Given the description of an element on the screen output the (x, y) to click on. 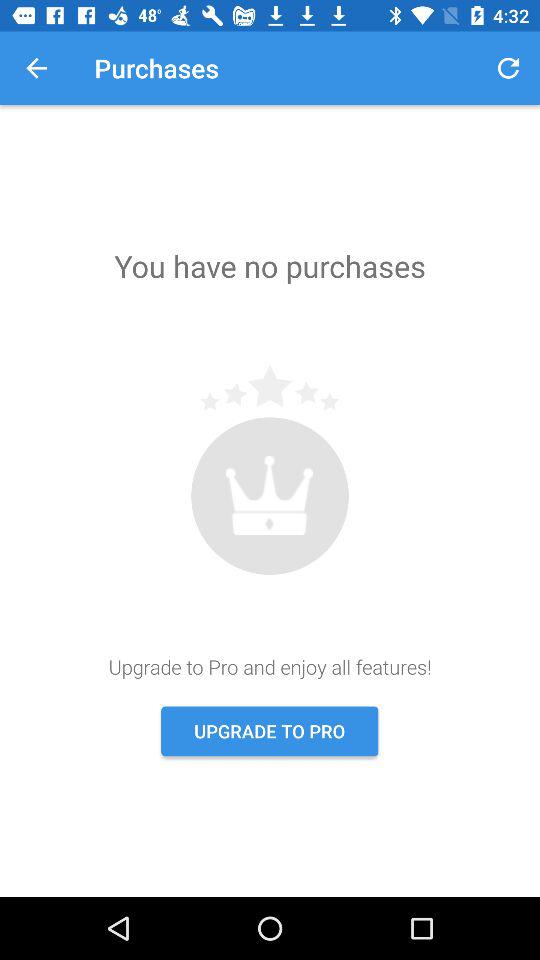
select the icon next to purchases icon (36, 68)
